Given the description of an element on the screen output the (x, y) to click on. 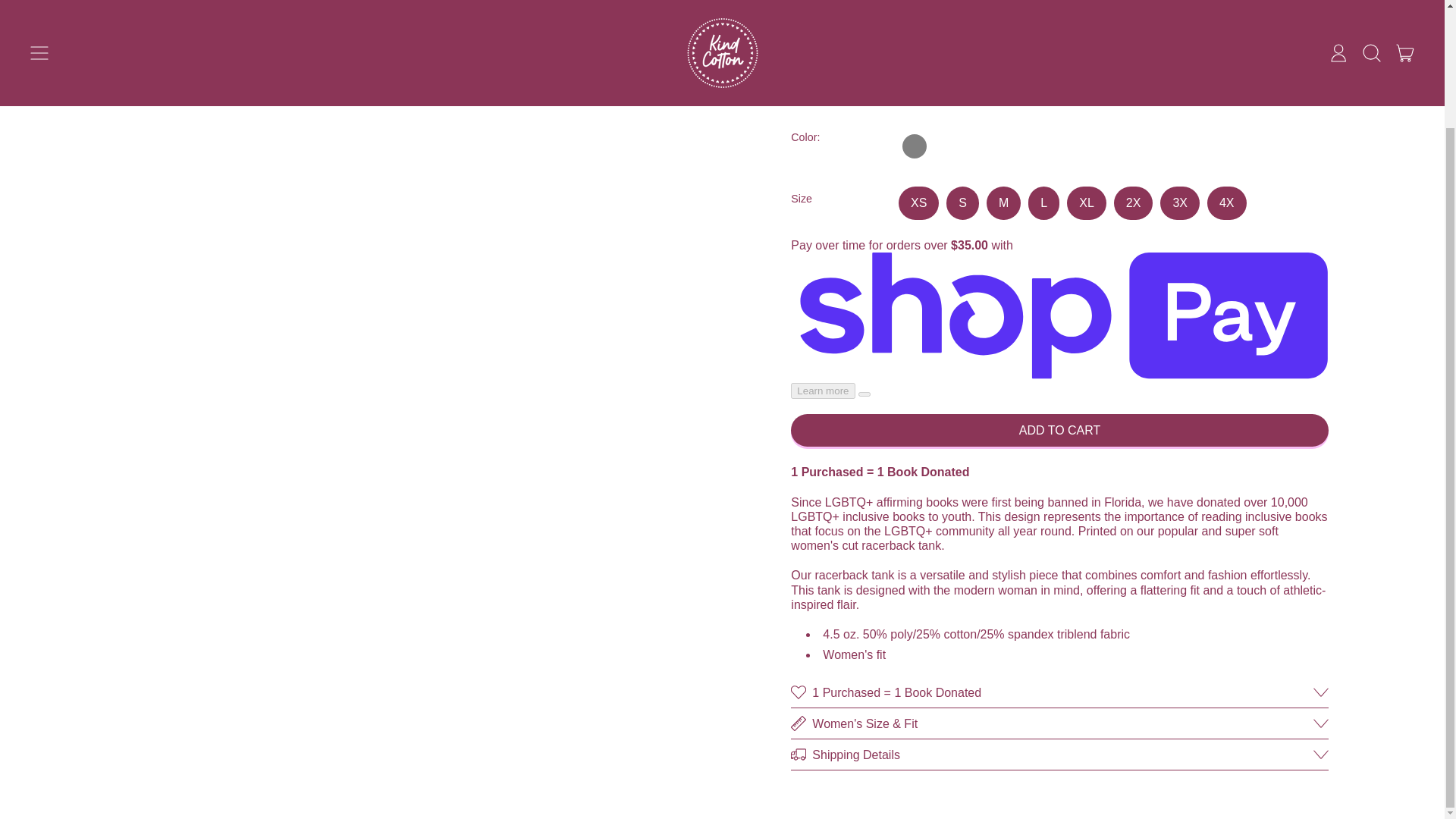
ADD TO CART (1058, 430)
